Given the description of an element on the screen output the (x, y) to click on. 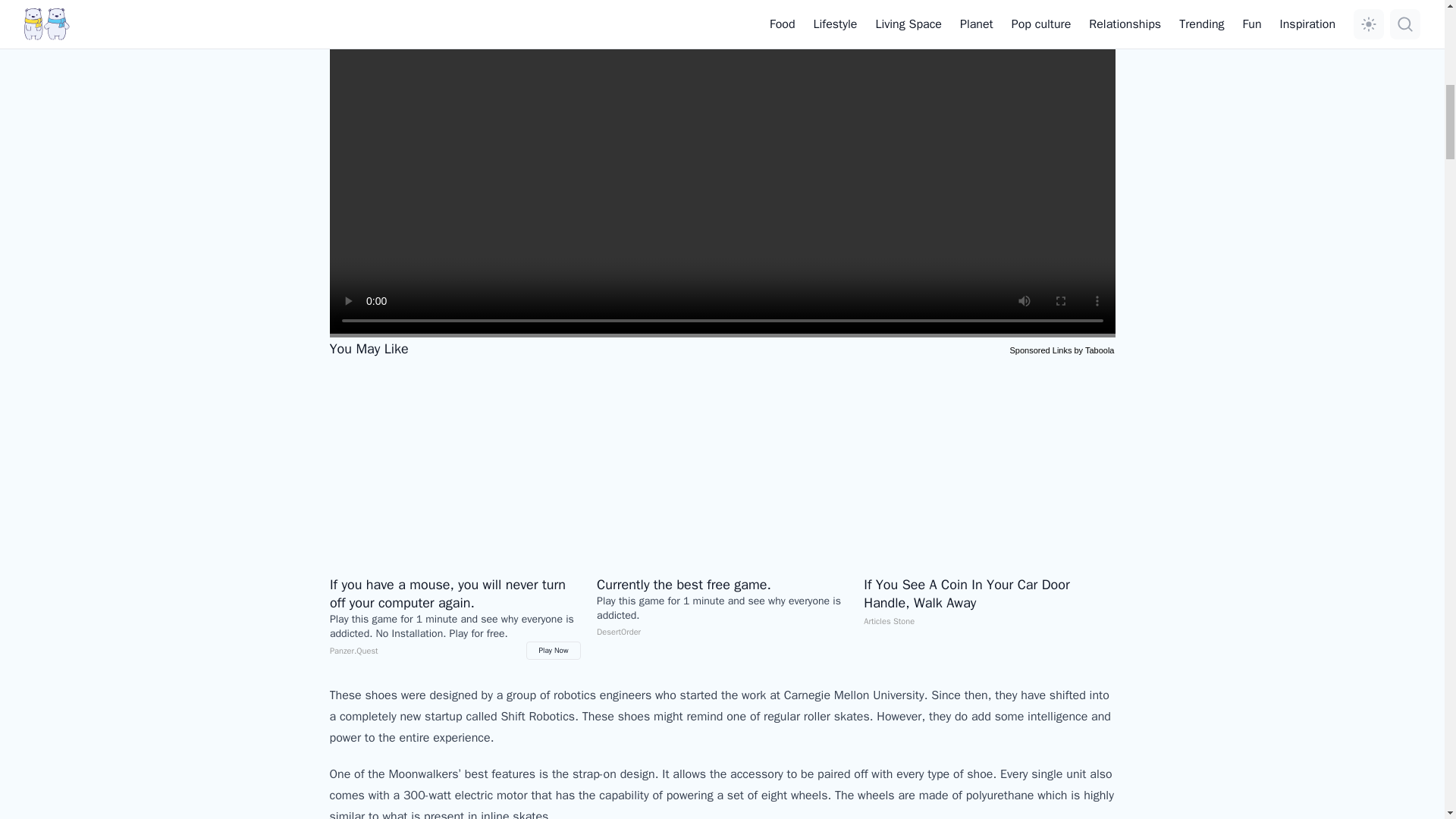
If You See A Coin In Your Car Door Handle, Walk Away (989, 466)
Sponsored Links (1040, 348)
by Taboola (1093, 348)
Play Now (552, 650)
